Given the description of an element on the screen output the (x, y) to click on. 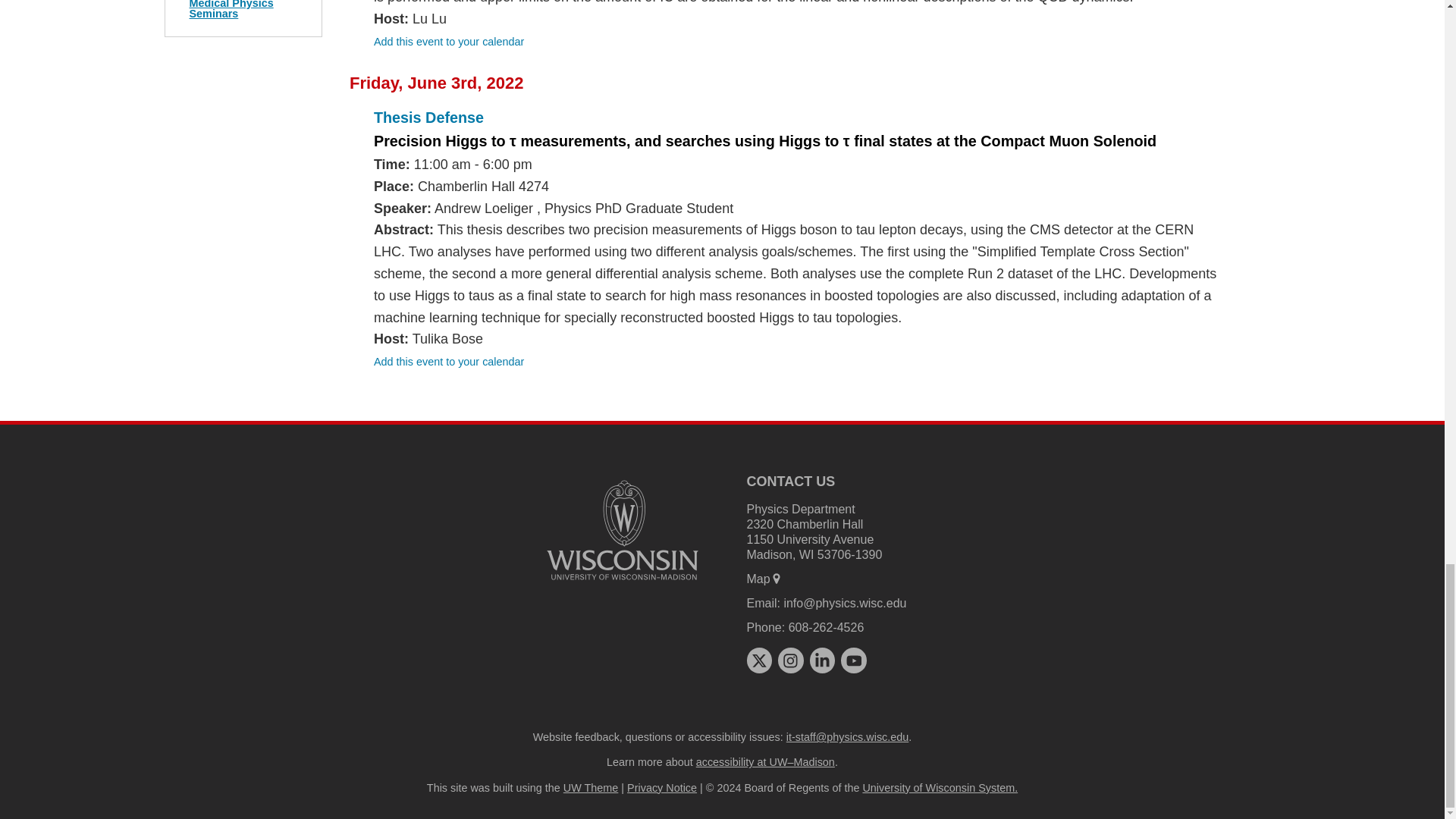
University logo that links to main university website (621, 530)
x twitter (759, 660)
youtube (853, 660)
map marker (776, 578)
instagram (790, 660)
linkedin (821, 660)
